Given the description of an element on the screen output the (x, y) to click on. 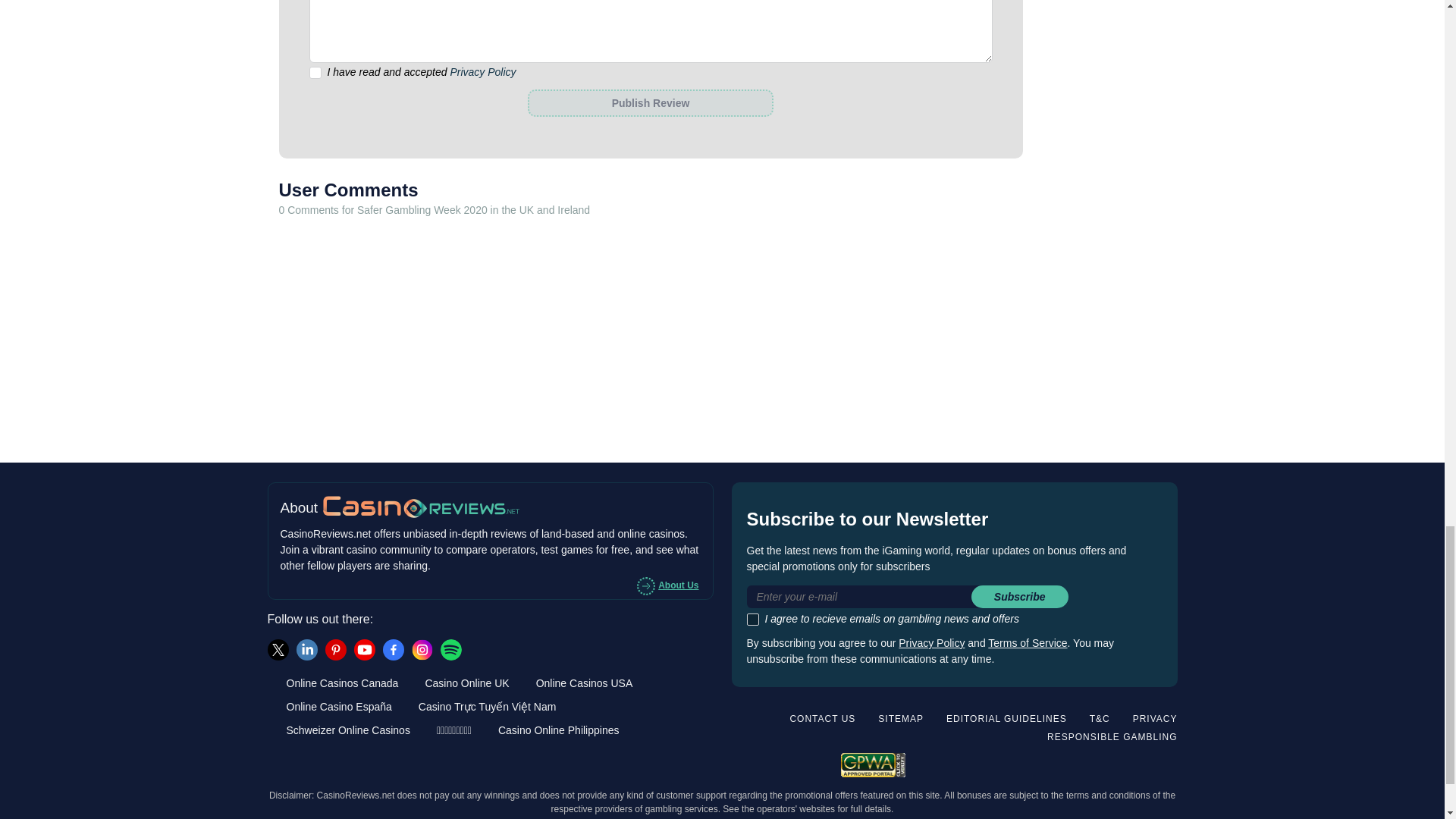
Subscribe (1019, 596)
Publish Review (650, 103)
DMCA.com Protection Status (1126, 762)
